Given the description of an element on the screen output the (x, y) to click on. 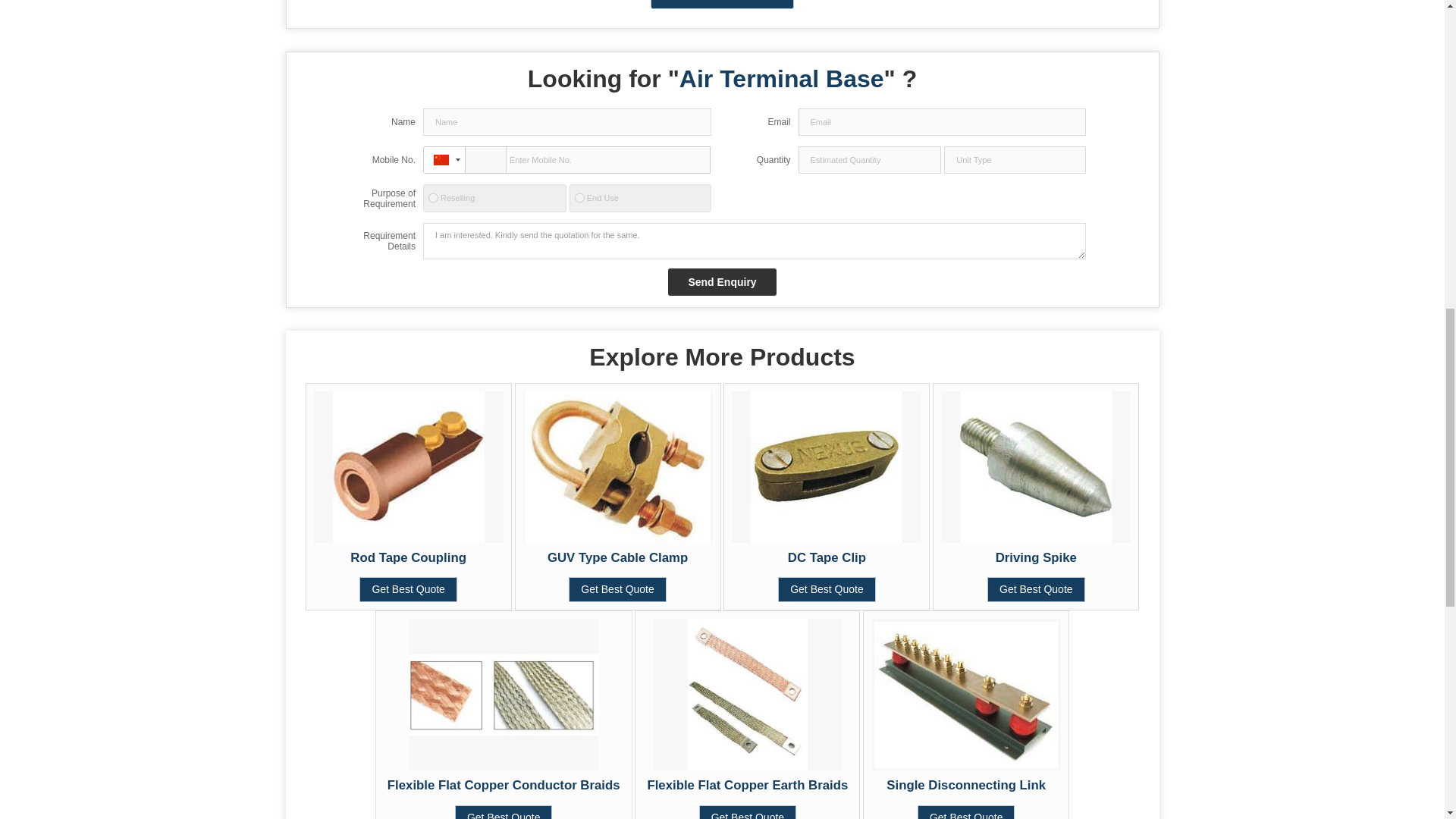
Yes! I am interested (722, 4)
Rod Tape Coupling (407, 557)
Send Enquiry (722, 281)
Get Best Quote (408, 589)
Get Best Quote (617, 589)
GUV Type Cable Clamp (617, 557)
Send Enquiry (722, 281)
